Given the description of an element on the screen output the (x, y) to click on. 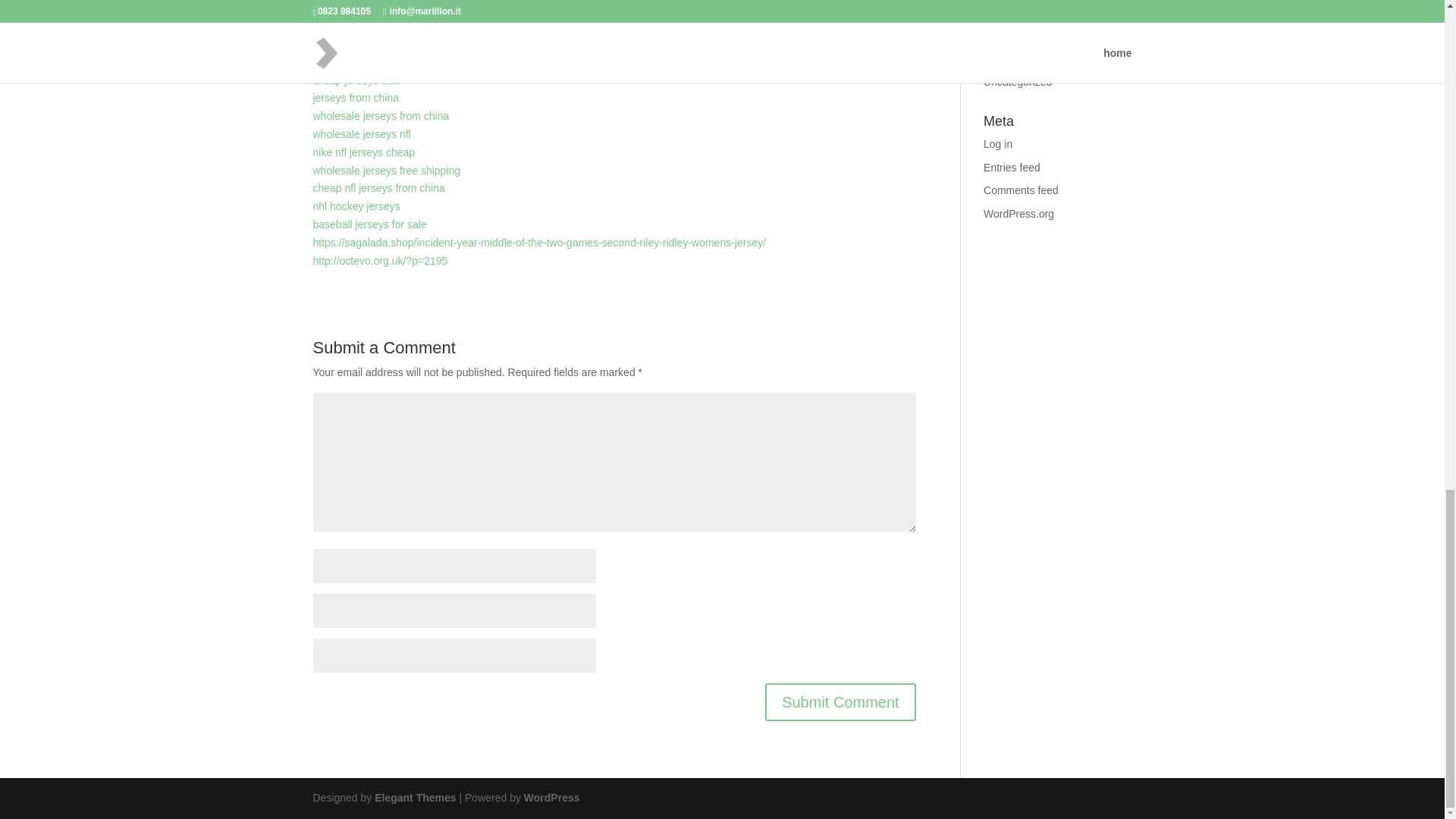
nhl hockey jerseys (355, 205)
wholesale nfl jerseys (361, 61)
jerseys from china (355, 97)
wholesale jerseys nfl (361, 133)
cheap nfl jerseys from china (378, 187)
nike nfl jerseys cheap (363, 152)
Submit Comment (840, 702)
cheap jerseys elite (356, 80)
baseball jerseys for sale (369, 224)
Submit Comment (840, 702)
wholesale jerseys from china (380, 115)
wholesale jerseys free shipping (386, 170)
Premium WordPress Themes (414, 797)
wholesale nfl jerseys (361, 43)
